Given the description of an element on the screen output the (x, y) to click on. 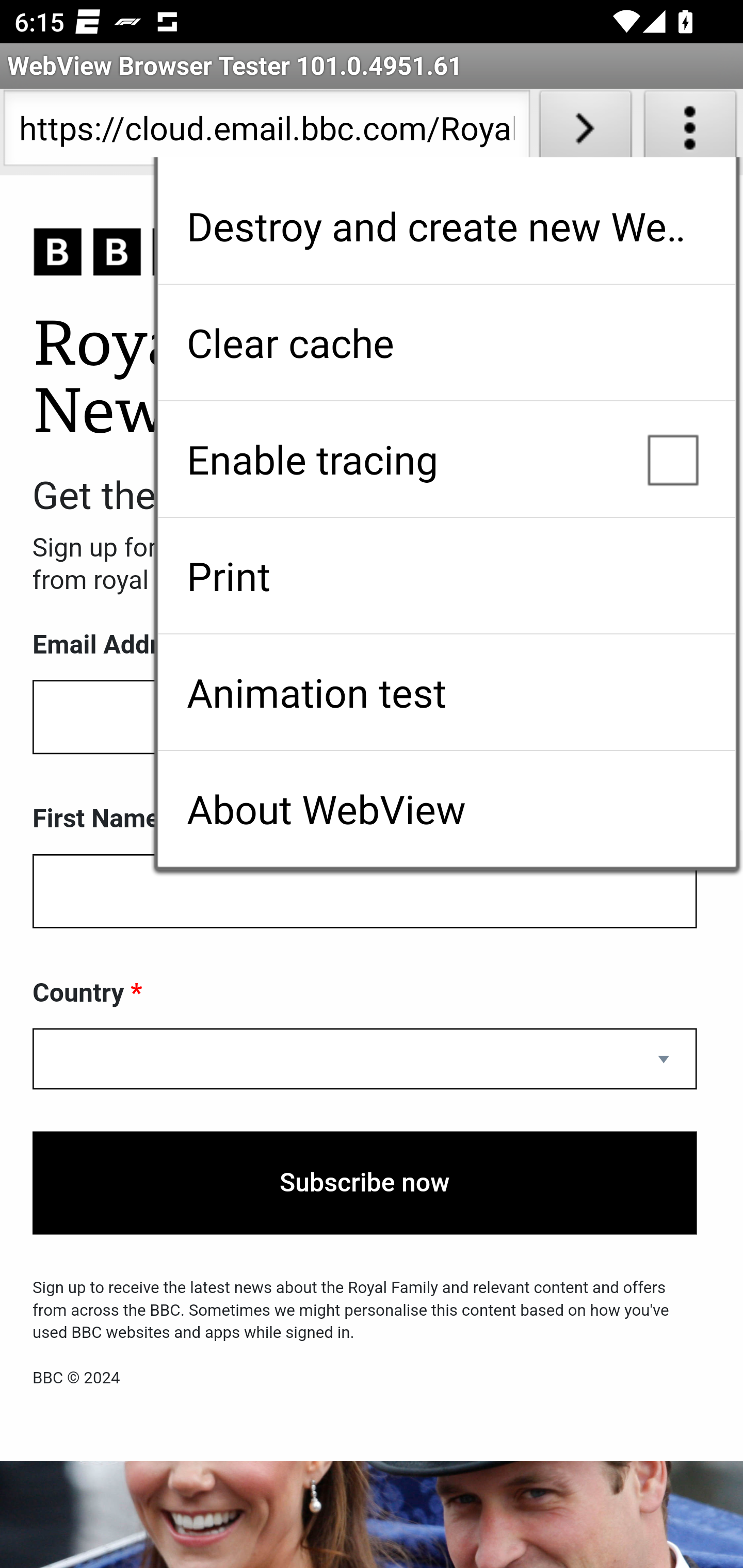
Destroy and create new WebView (446, 225)
Clear cache (446, 342)
Enable tracing (446, 459)
Print (446, 575)
Animation test (446, 692)
About WebView (446, 809)
